Given the description of an element on the screen output the (x, y) to click on. 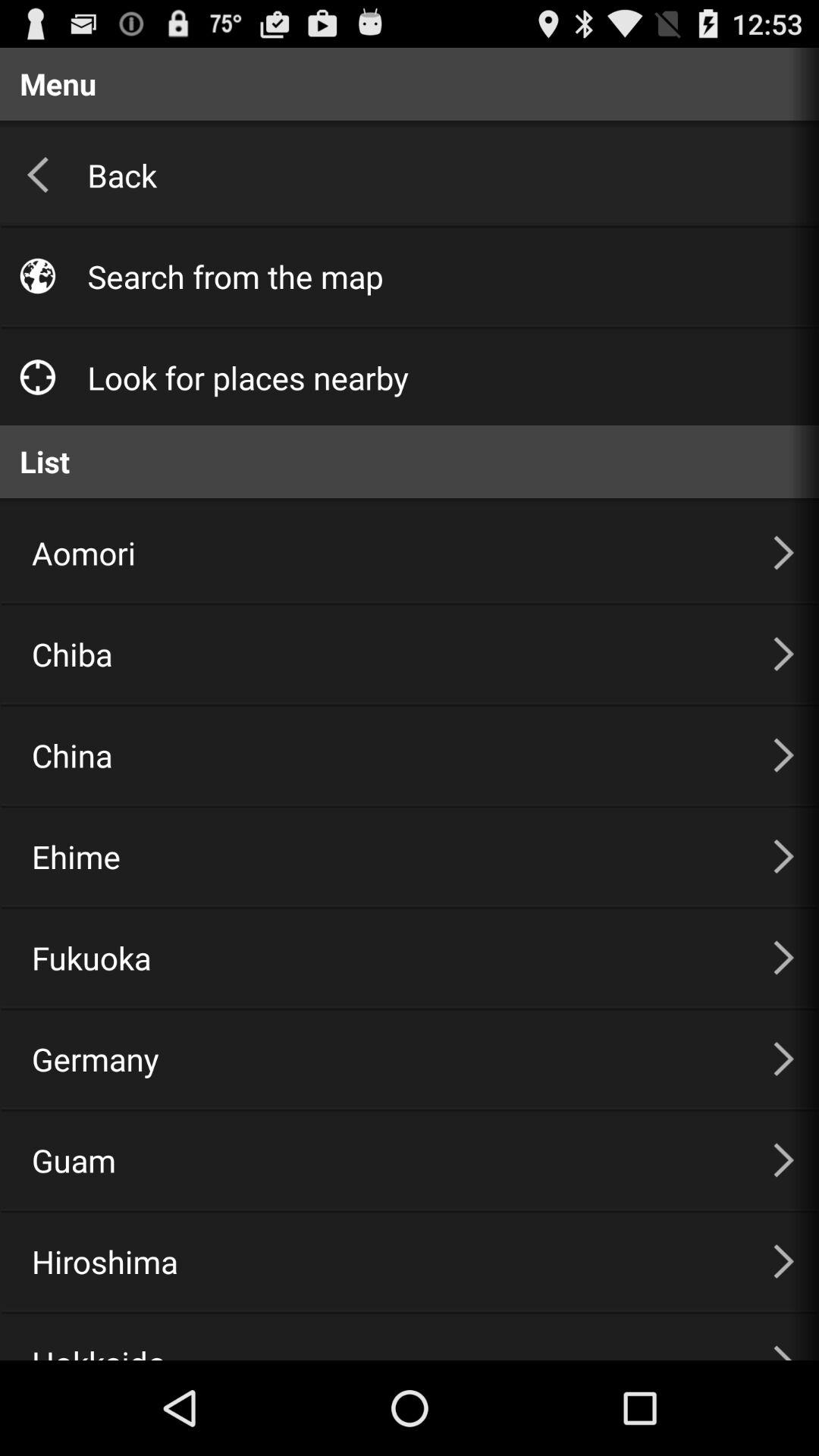
press the item above guam app (384, 1058)
